Given the description of an element on the screen output the (x, y) to click on. 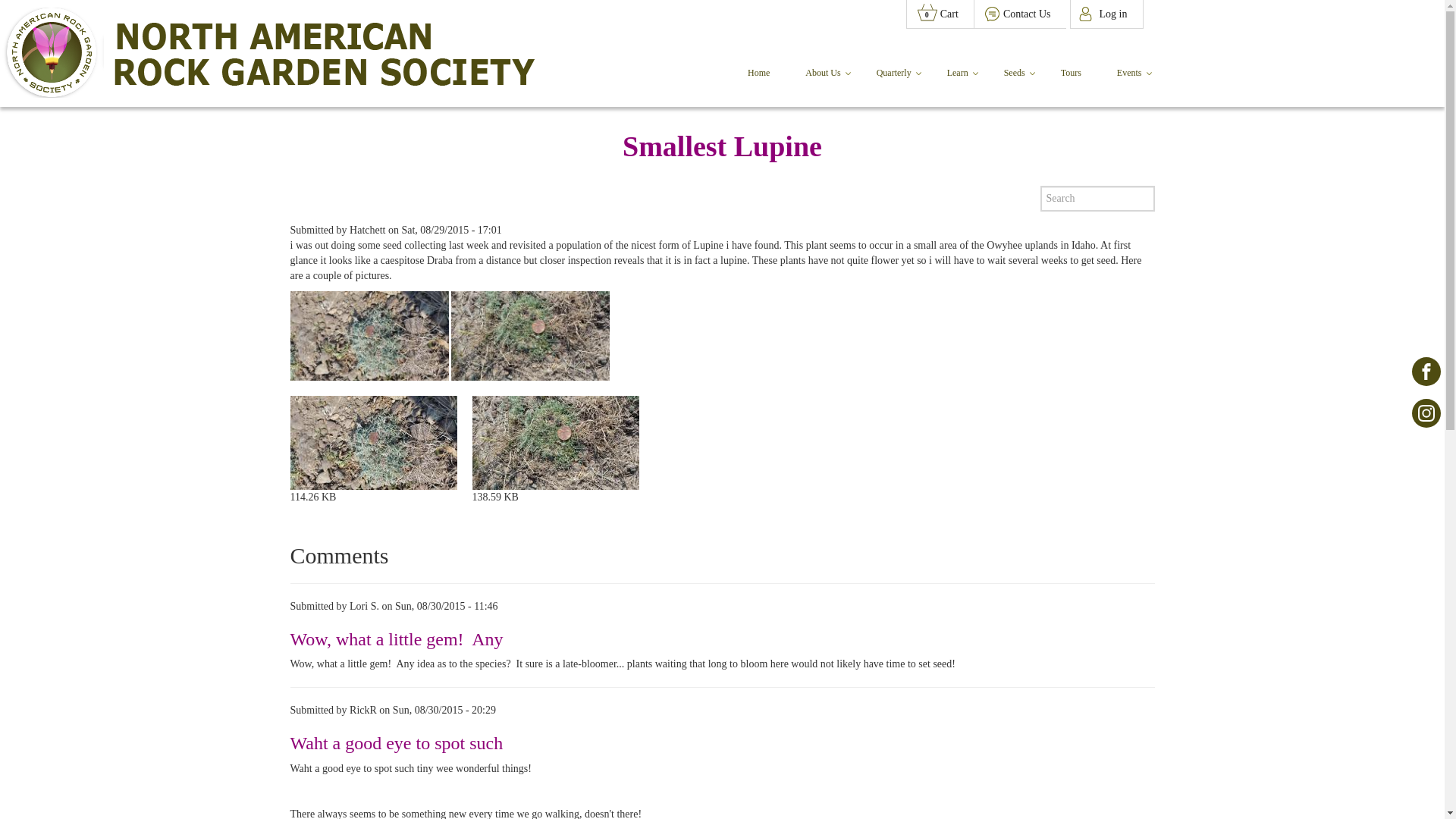
NARGS Facebook profile (939, 14)
Dynamic cart menu item (1426, 371)
Log in (939, 14)
Contact Us (1106, 14)
Saturday, August 29, 2015 - 17:01 (1019, 14)
Enter the terms you wish to search for. (450, 229)
Events (1097, 198)
NARGS Instagram profile (1131, 73)
Skip to main content (1426, 412)
Home (1072, 73)
Home (267, 22)
